Given the description of an element on the screen output the (x, y) to click on. 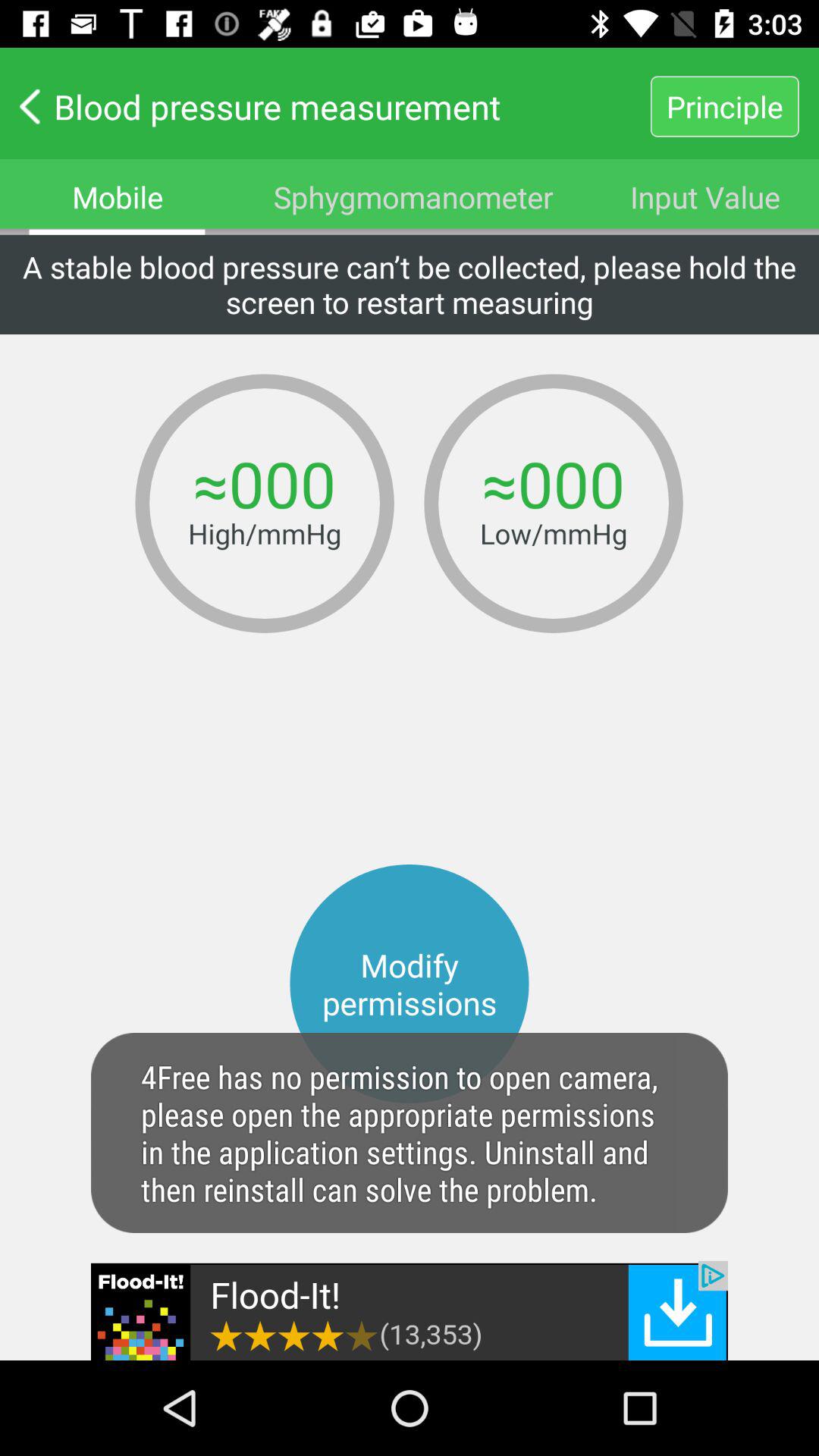
advertisement at bottom (409, 1310)
